Given the description of an element on the screen output the (x, y) to click on. 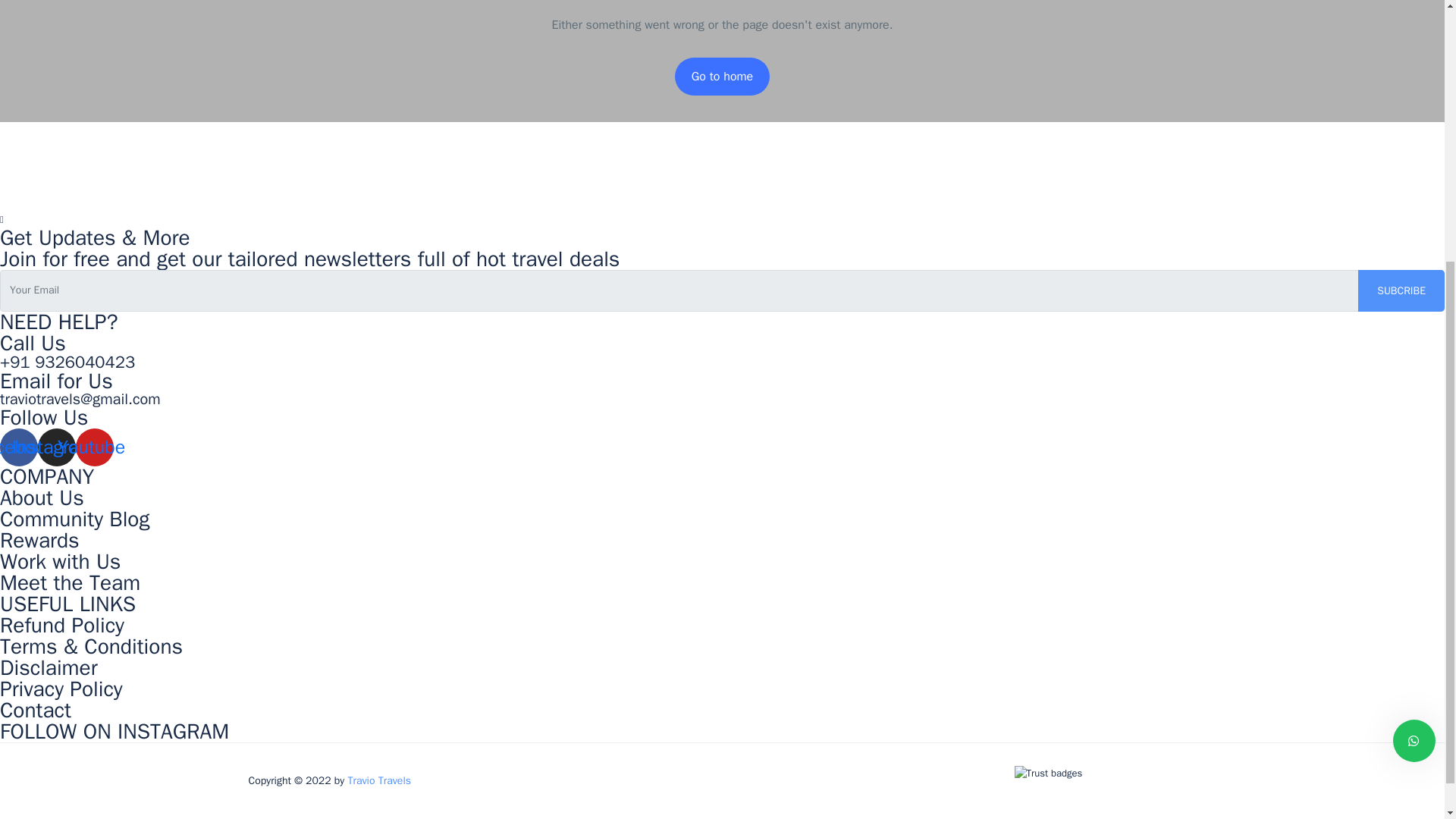
Facebook (18, 447)
Meet the Team (69, 582)
About Us (42, 497)
Community Blog (74, 519)
Privacy Policy (61, 688)
Disclaimer (48, 667)
Go to home (722, 75)
Refund Policy (61, 624)
Contact (35, 709)
Youtube (94, 447)
